Given the description of an element on the screen output the (x, y) to click on. 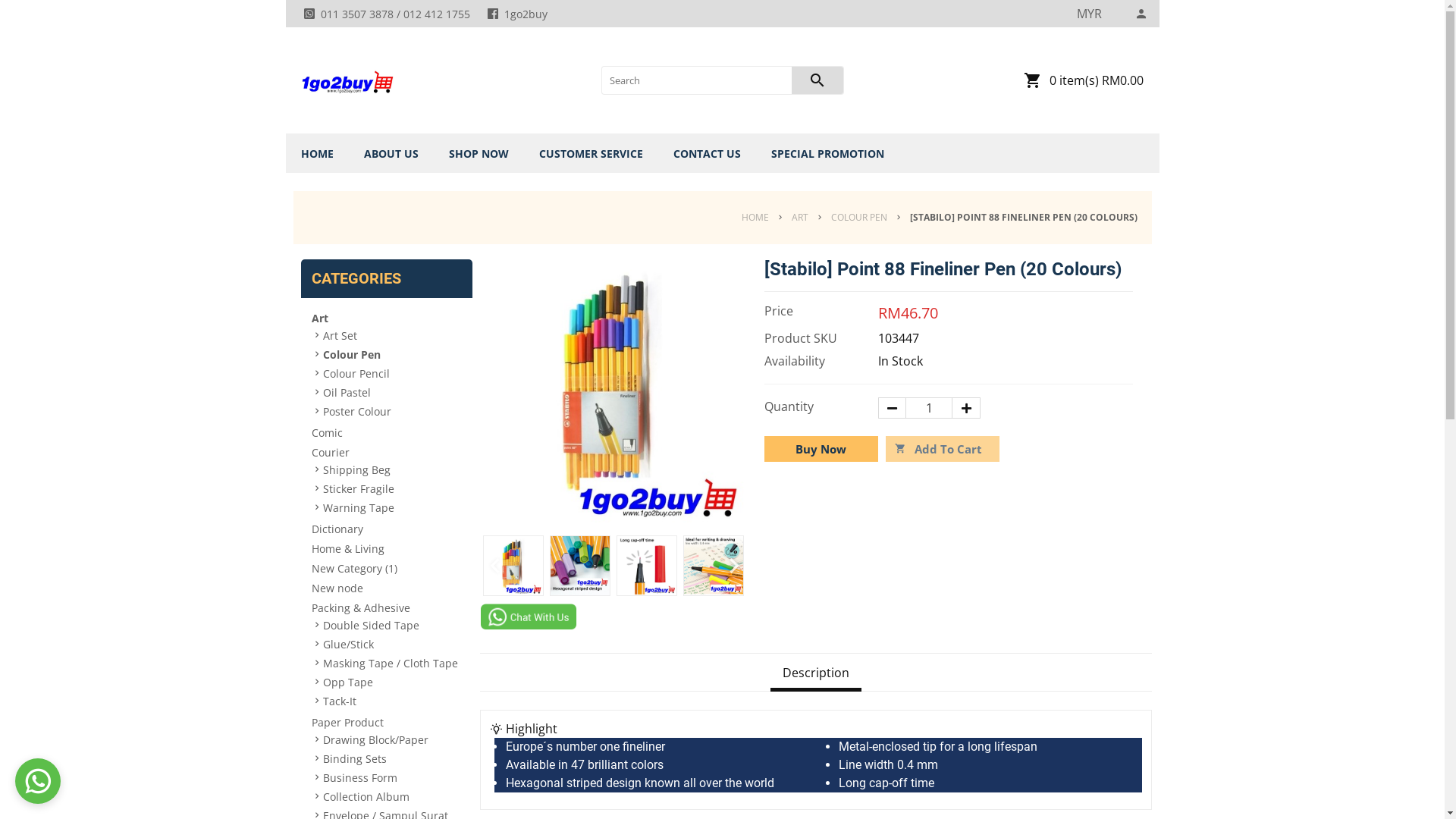
Business Form Element type: text (392, 776)
Binding Sets Element type: text (392, 758)
SHOP NOW Element type: text (478, 153)
 [Stabilo] Point 88 Fineliner Pen (20 Colours) Element type: hover (612, 391)
Courier Element type: text (385, 452)
 [Stabilo] Point 88 Fineliner Pen (20 Colours) Element type: hover (713, 565)
 [Stabilo] Point 88 Fineliner Pen (20 Colours) Element type: hover (612, 519)
CUSTOMER SERVICE Element type: text (589, 153)
Previous Element type: text (493, 565)
 [Stabilo] Point 88 Fineliner Pen (20 Colours) Element type: hover (579, 565)
Glue/Stick Element type: text (392, 643)
Warning Tape Element type: text (392, 506)
Oil Pastel Element type: text (392, 391)
HOME Element type: text (316, 153)
Double Sided Tape Element type: text (392, 625)
 [Stabilo] Point 88 Fineliner Pen (20 Colours) Element type: hover (646, 565)
Comic Element type: text (385, 432)
Description Element type: text (815, 674)
Dictionary Element type: text (385, 528)
ART Element type: text (799, 217)
Shipping Beg Element type: text (392, 468)
Packing & Adhesive Element type: text (385, 607)
 [Stabilo] Point 88 Fineliner Pen (20 Colours) Element type: hover (513, 565)
Colour Pencil Element type: text (392, 373)
Buy Now Element type: text (821, 448)
Paper Product Element type: text (385, 722)
Sticker Fragile Element type: text (392, 488)
MYR Element type: text (1088, 13)
New node Element type: text (385, 587)
Art Element type: text (385, 317)
Colour Pen Element type: text (392, 353)
Poster Colour Element type: text (392, 411)
SPECIAL PROMOTION Element type: text (826, 153)
Art Set Element type: text (392, 335)
CONTACT US Element type: text (706, 153)
Drawing Block/Paper Element type: text (392, 738)
HOME Element type: text (758, 217)
Next Element type: text (731, 565)
New Category (1) Element type: text (385, 567)
Masking Tape / Cloth Tape Element type: text (392, 663)
Home & Living Element type: text (385, 547)
ABOUT US Element type: text (391, 153)
1go2buy Element type: hover (345, 79)
Tack-It Element type: text (392, 701)
Collection Album Element type: text (392, 796)
Opp Tape Element type: text (392, 681)
[STABILO] POINT 88 FINELINER PEN (20 COLOURS) Element type: text (1022, 217)
COLOUR PEN Element type: text (858, 217)
